Given the description of an element on the screen output the (x, y) to click on. 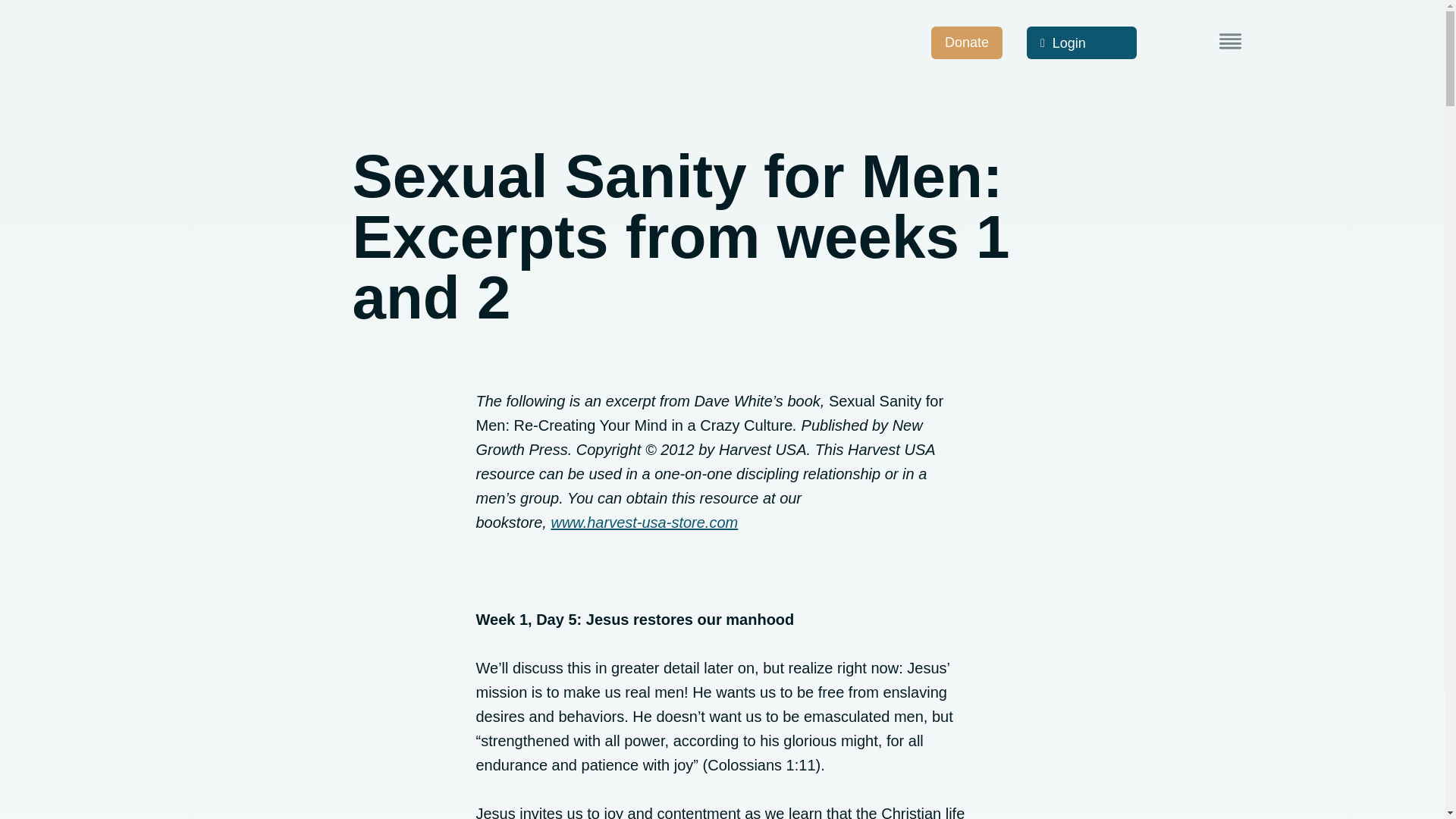
www.harvest-usa-store.com (644, 522)
Donate (967, 42)
Login (1081, 42)
Learn More (1230, 41)
